Given the description of an element on the screen output the (x, y) to click on. 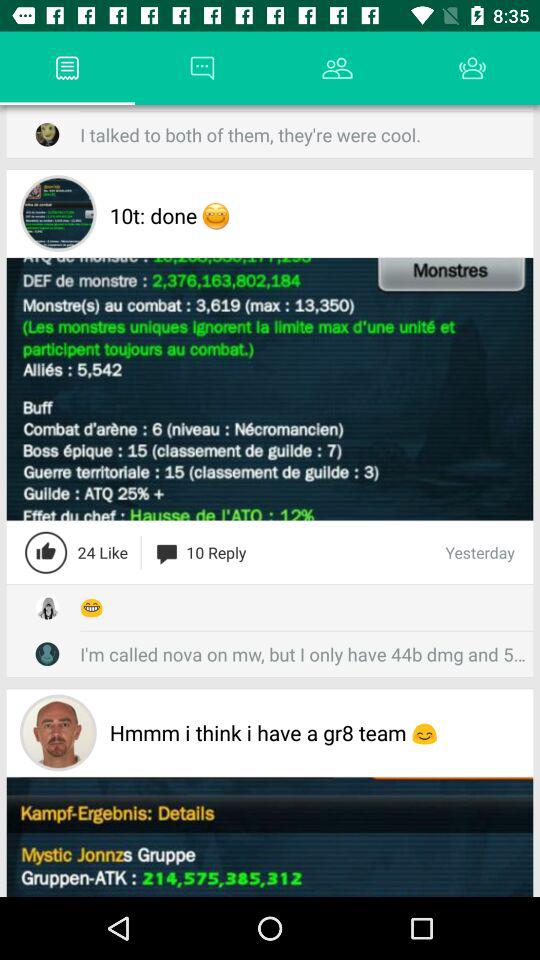
like this (46, 552)
